Given the description of an element on the screen output the (x, y) to click on. 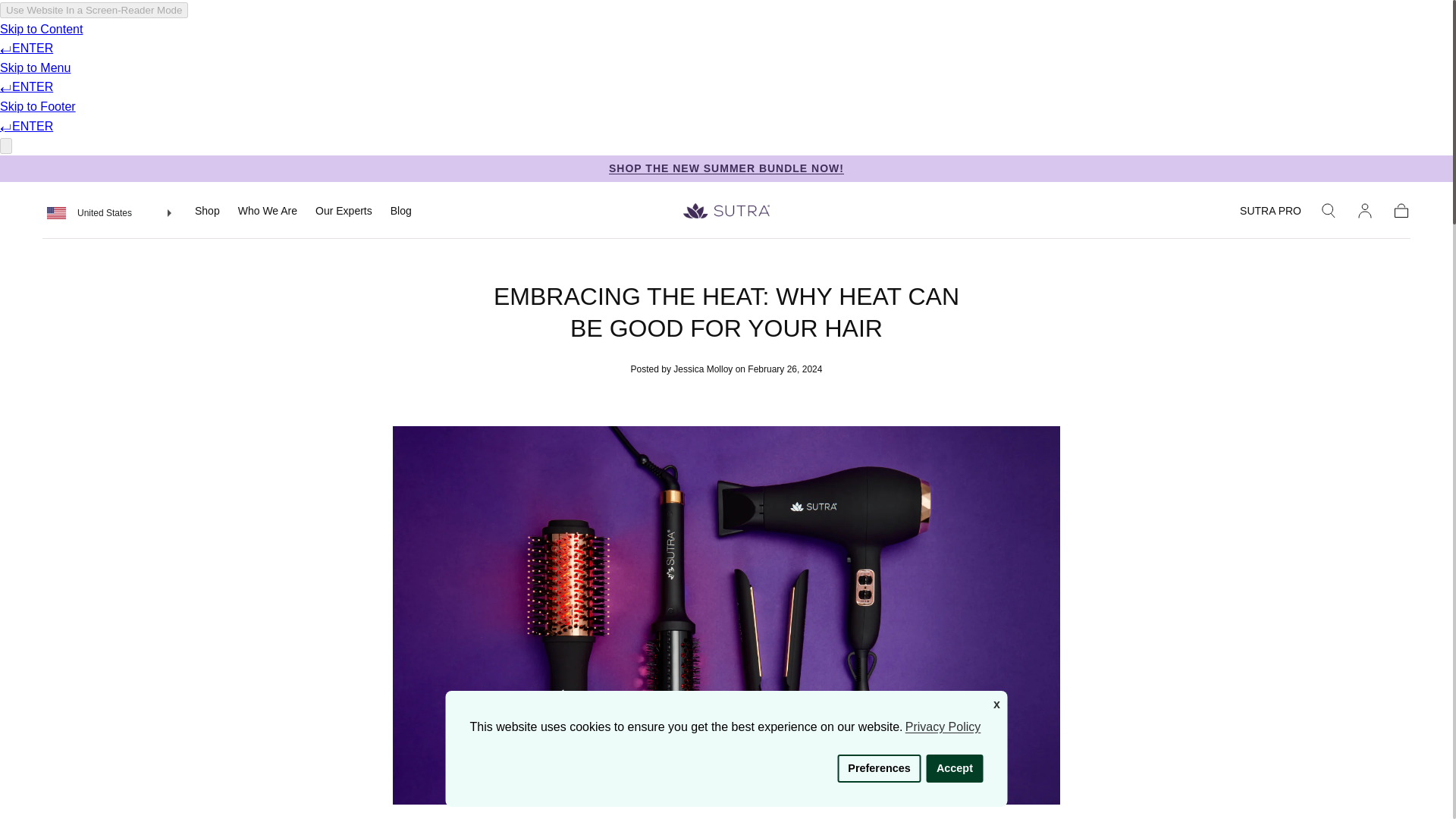
Sutra Pro (1270, 212)
Shop (207, 212)
SHOP THE NEW SUMMER BUNDLE NOW! (726, 168)
Cart (1400, 210)
Sign in (1364, 210)
Summer Bundle (726, 168)
Skip to content (67, 18)
